Given the description of an element on the screen output the (x, y) to click on. 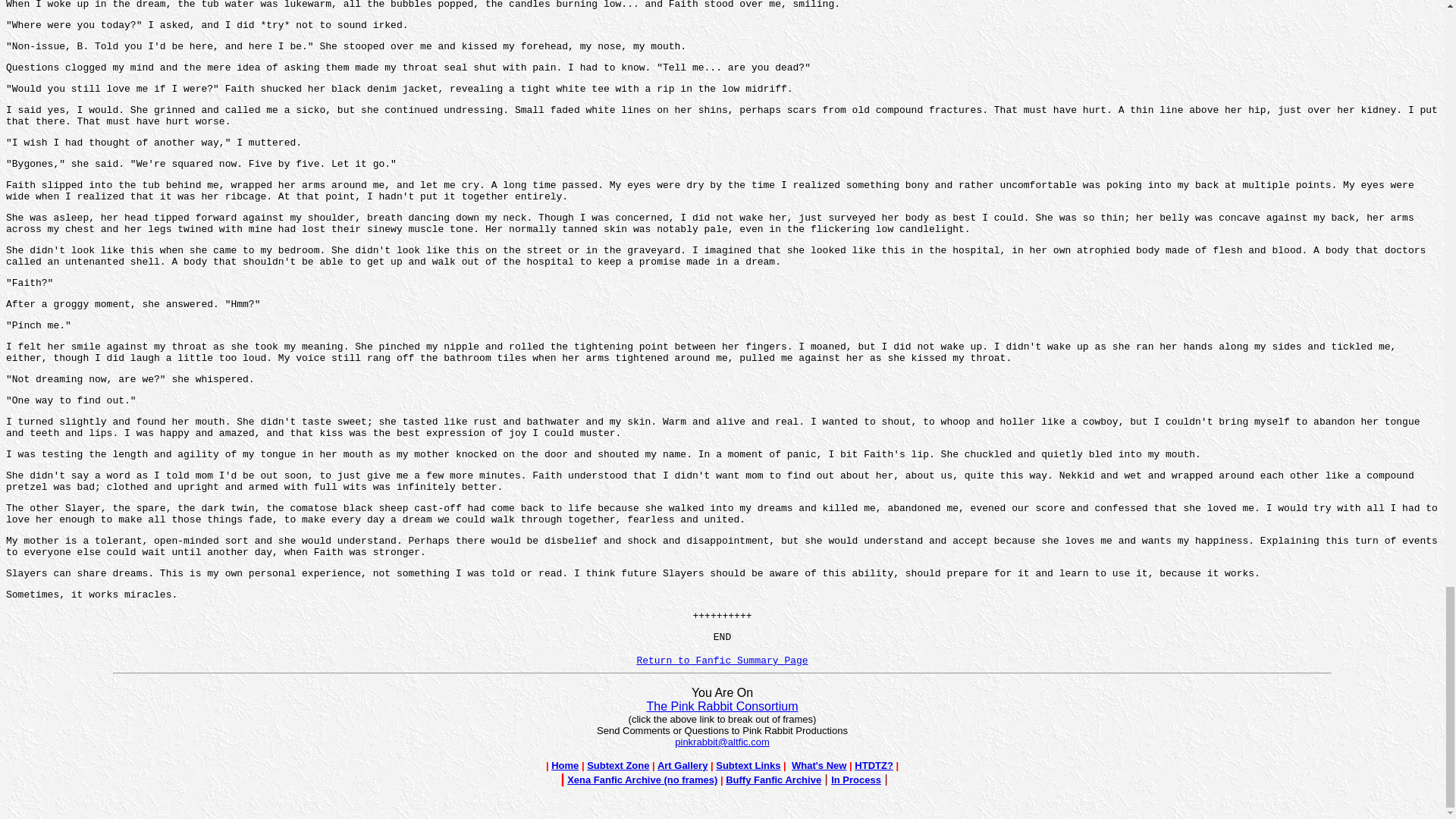
Return to Fanfic Summary Page (722, 660)
What's New (818, 765)
Subtext Links (748, 765)
Subtext Zone (617, 764)
In Process (855, 779)
HTDTZ? (873, 765)
Home (564, 764)
Art Gallery (682, 765)
Buffy Fanfic Archive (773, 779)
The Pink Rabbit Consortium (721, 706)
